Given the description of an element on the screen output the (x, y) to click on. 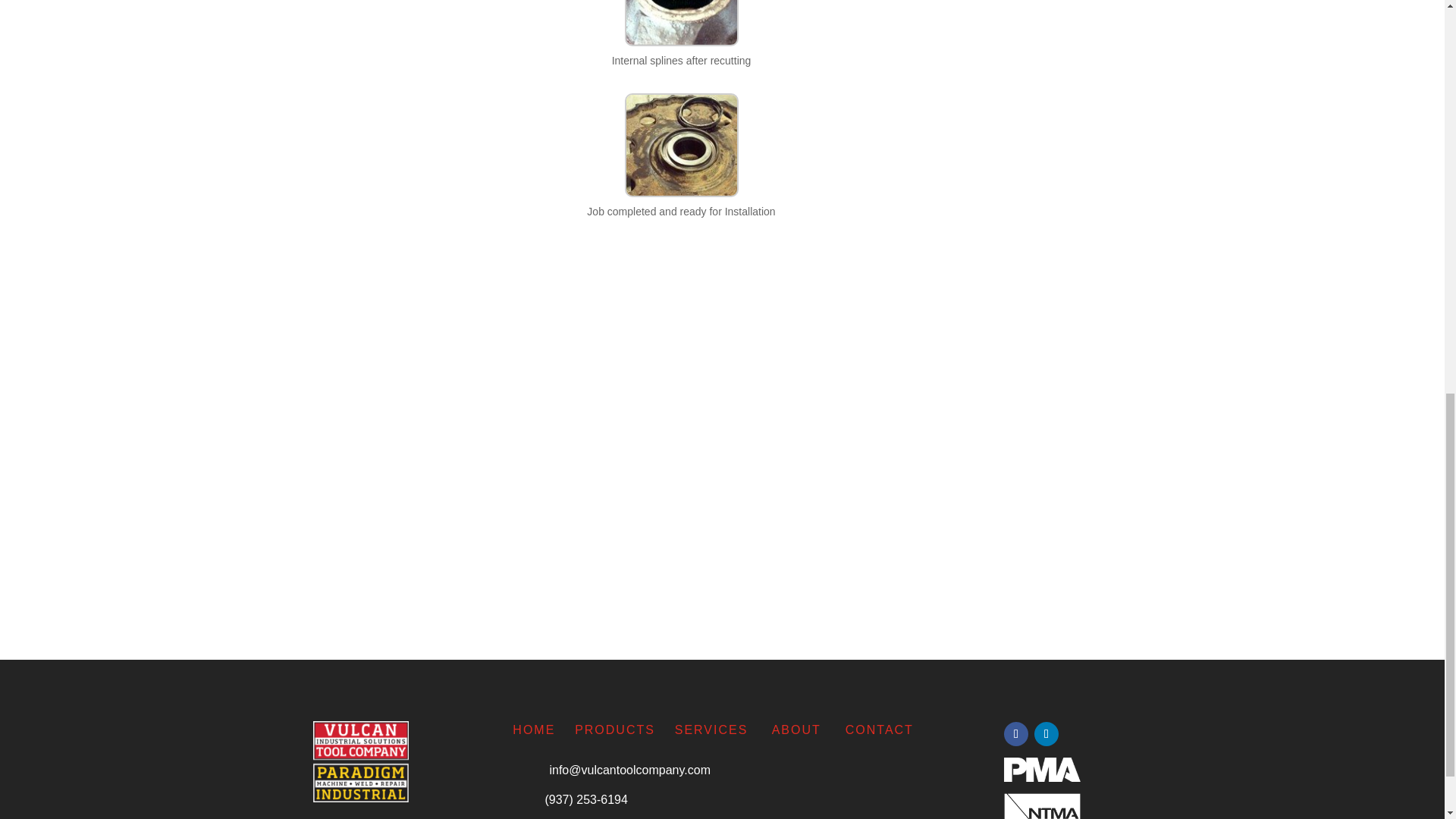
Follow on LinkedIn (1045, 733)
Follow on Facebook (1015, 733)
